Given the description of an element on the screen output the (x, y) to click on. 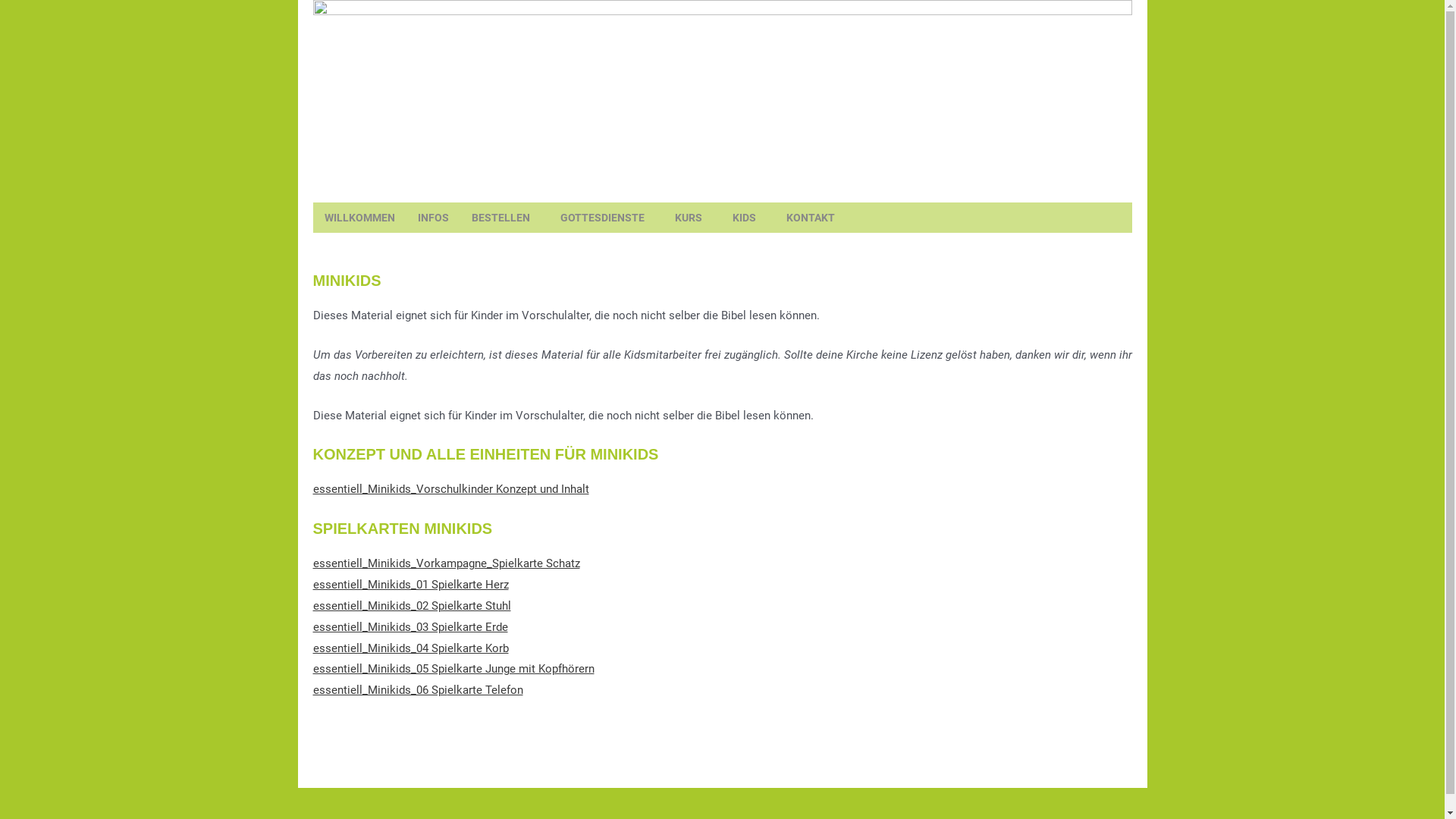
elkarte Telefon Element type: text (485, 689)
KIDS Element type: text (747, 217)
KONTAKT Element type: text (810, 217)
INFOS Element type: text (433, 217)
essentiell_Minikids_01 Spielkarte Herz Element type: text (410, 584)
BESTELLEN Element type: text (503, 217)
KURS Element type: text (691, 217)
WILLKOMMEN Element type: text (358, 217)
GOTTESDIENSTE Element type: text (606, 217)
essentiell_Minikids_03 Spielkarte Erde Element type: text (409, 626)
essentiell_Minikids_06 Spi Element type: text (379, 689)
essentiell_Minikids_Vorschulkinder Konzept und Inhalt Element type: text (450, 488)
essentiell_Minikids_04 Spielkarte Korb Element type: text (410, 648)
essentiell_Minikids_02 Spielkarte Stuhl Element type: text (411, 605)
essentiell_Minikids_Vorkampagne_Spielkarte Schatz Element type: text (445, 563)
